Given the description of an element on the screen output the (x, y) to click on. 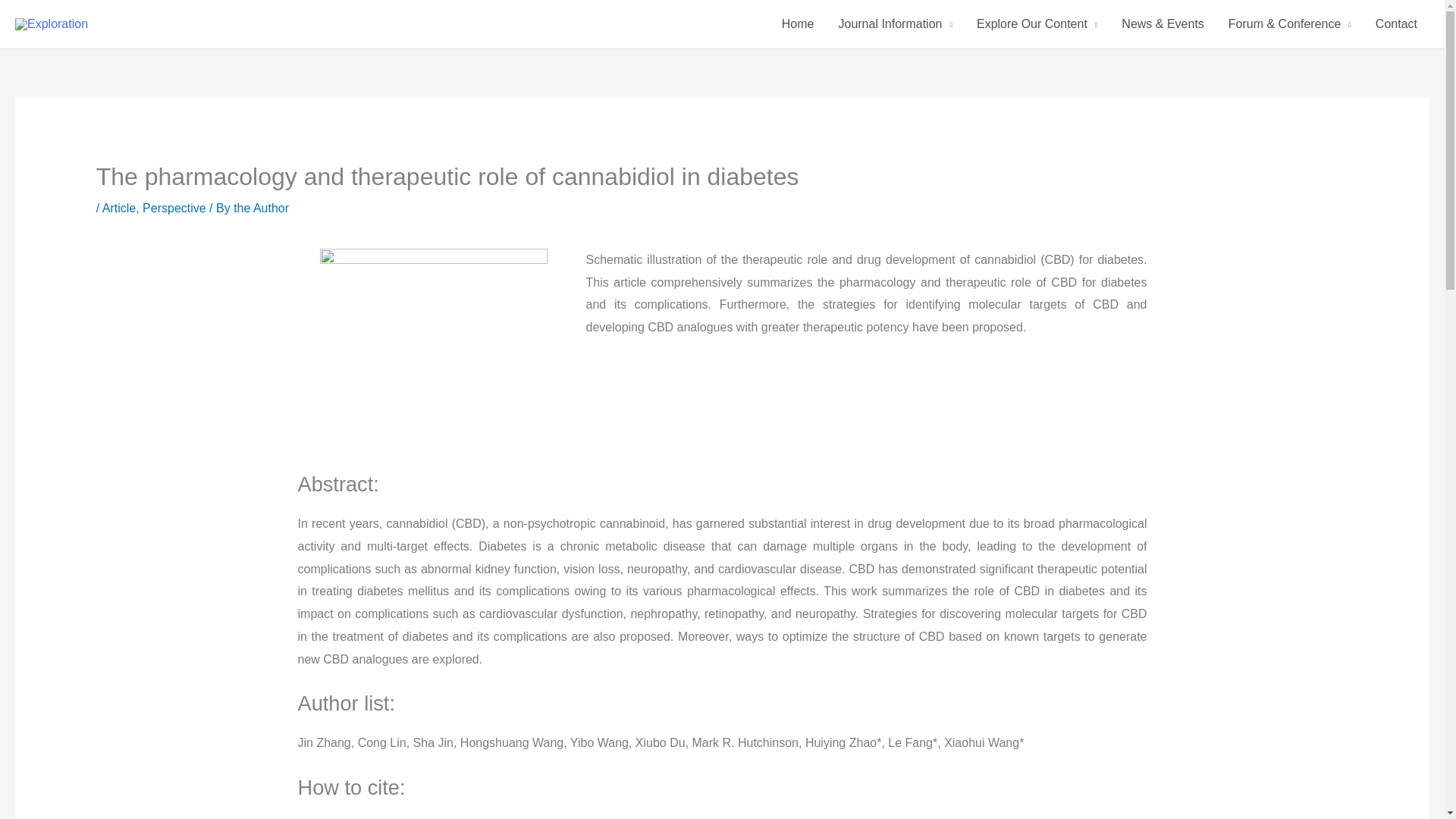
Journal Information (894, 24)
Contact (1395, 24)
Article (118, 207)
Home (798, 24)
Perspective (174, 207)
the Author (260, 207)
Explore Our Content (1036, 24)
View all posts by the Author (260, 207)
